Given the description of an element on the screen output the (x, y) to click on. 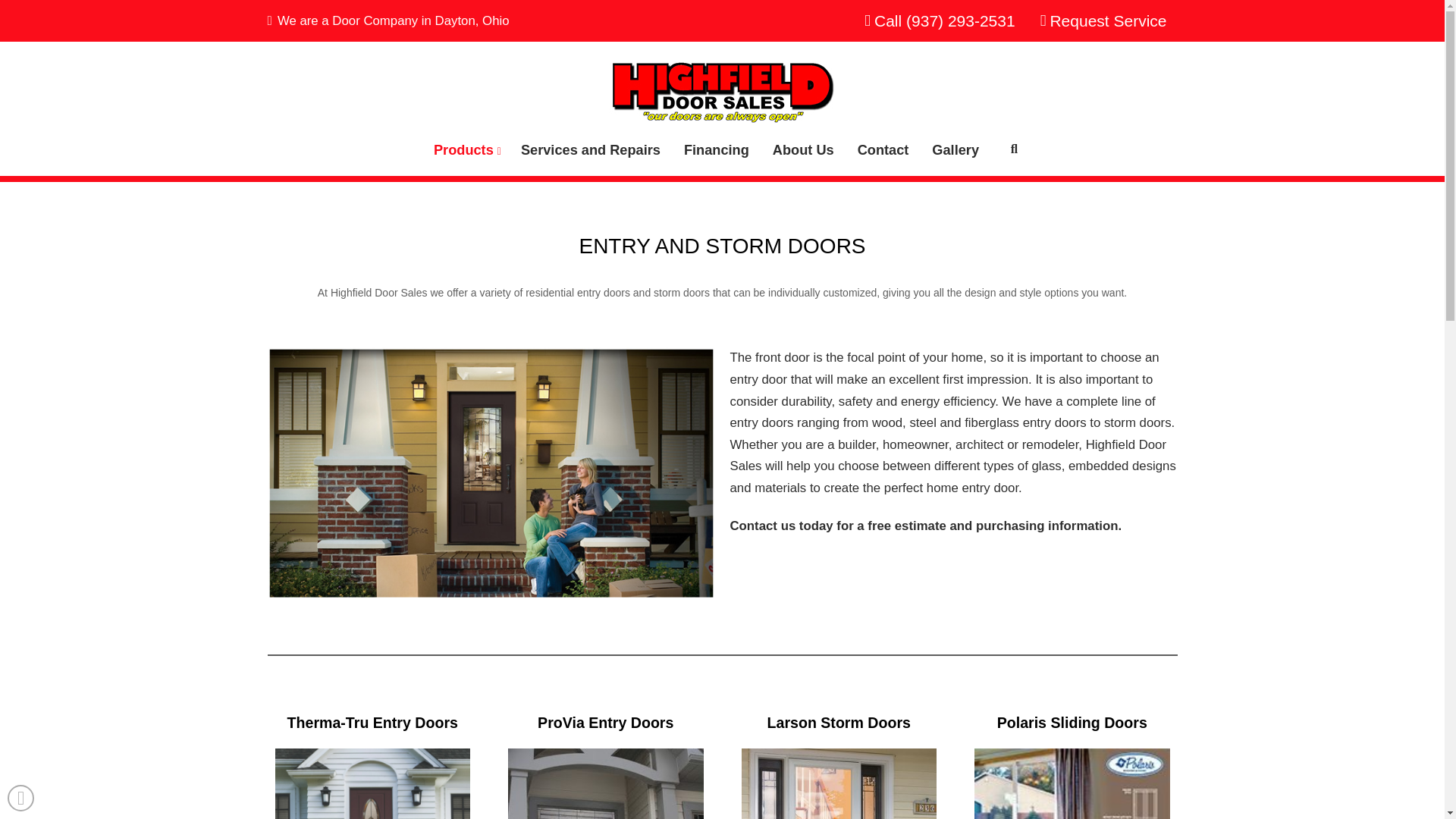
Back to Top (20, 797)
Request Service (1101, 20)
Contact (882, 149)
Financing (715, 149)
Gallery (955, 149)
About Us (802, 149)
Products (465, 149)
Services and Repairs (589, 149)
